Given the description of an element on the screen output the (x, y) to click on. 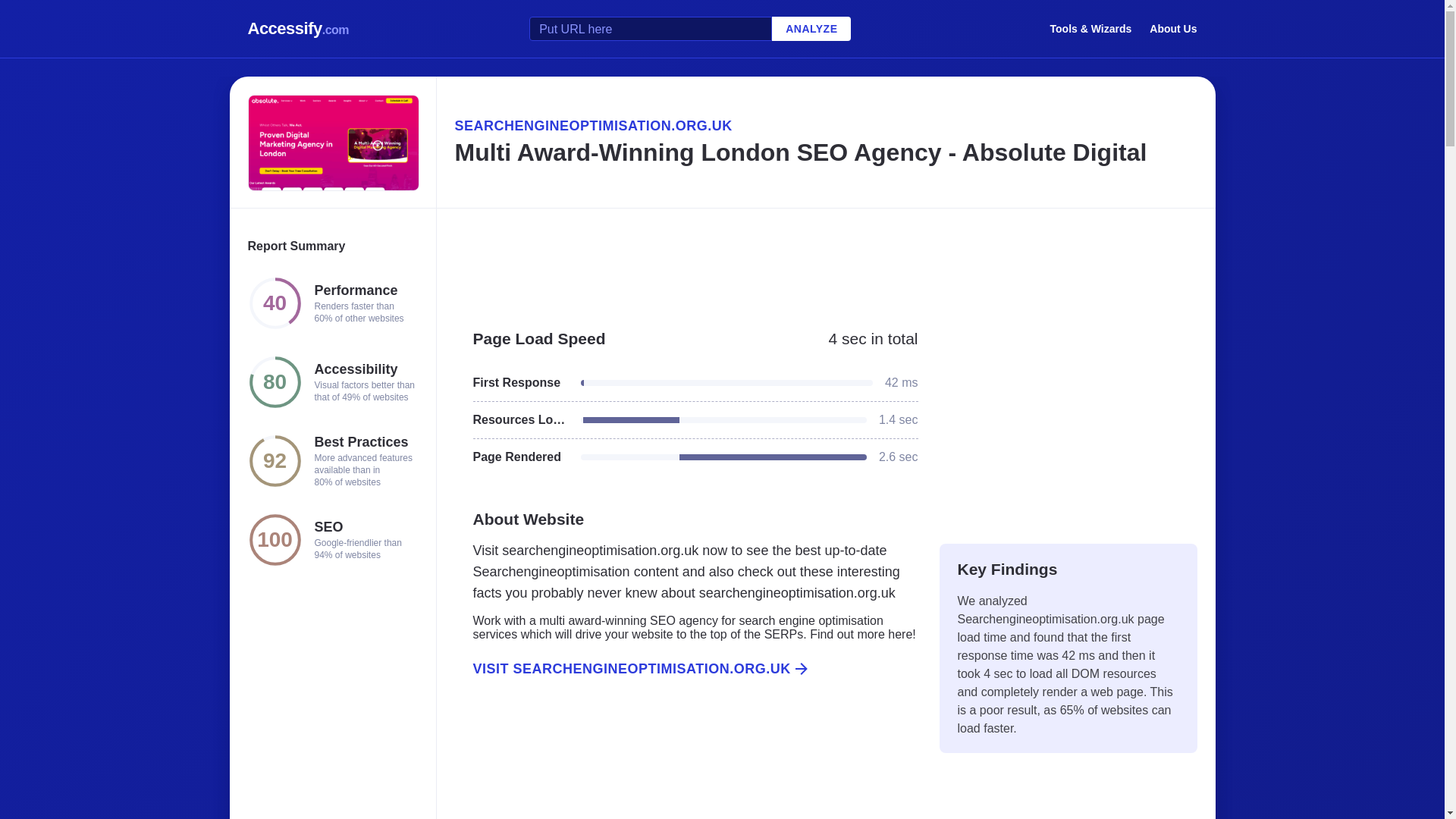
ANALYZE (810, 28)
SEARCHENGINEOPTIMISATION.ORG.UK (825, 126)
Accessify.com (298, 28)
Advertisement (1067, 418)
About Us (1173, 28)
Advertisement (686, 765)
VISIT SEARCHENGINEOPTIMISATION.ORG.UK (686, 669)
Advertisement (825, 260)
